Given the description of an element on the screen output the (x, y) to click on. 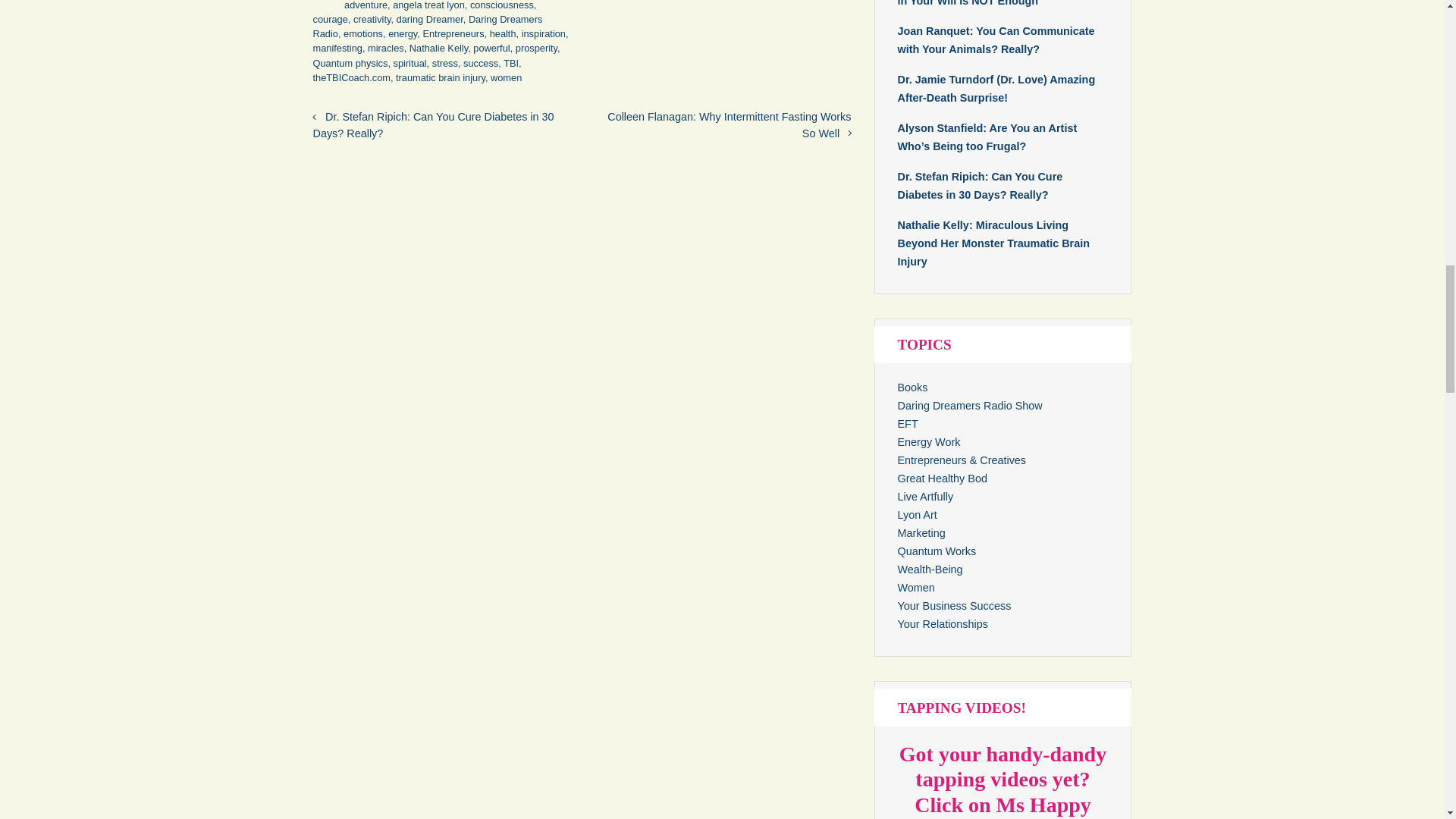
inspiration (543, 33)
manifesting (337, 48)
creativity (372, 19)
health (502, 33)
Quantum physics (350, 62)
Nathalie Kelly (438, 48)
courage (330, 19)
miracles (386, 48)
prosperity (536, 48)
angela treat lyon (428, 5)
